Given the description of an element on the screen output the (x, y) to click on. 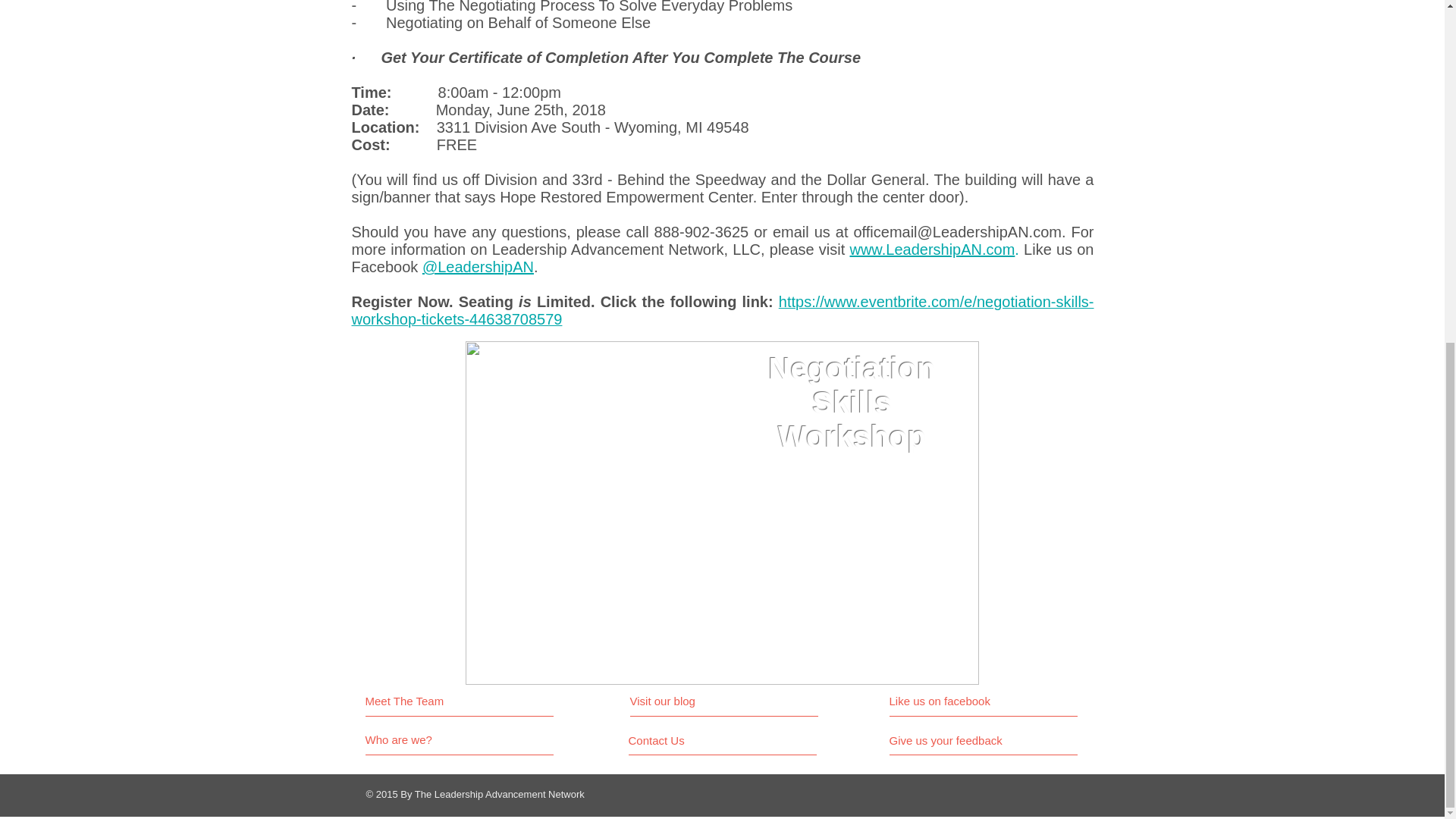
Give us your feedback (951, 740)
Contact Us (684, 740)
www.LeadershipAN.com (931, 248)
Meet The Team (430, 700)
Who are we? (422, 739)
Like us on facebook (956, 700)
Visit our blog (694, 700)
